Given the description of an element on the screen output the (x, y) to click on. 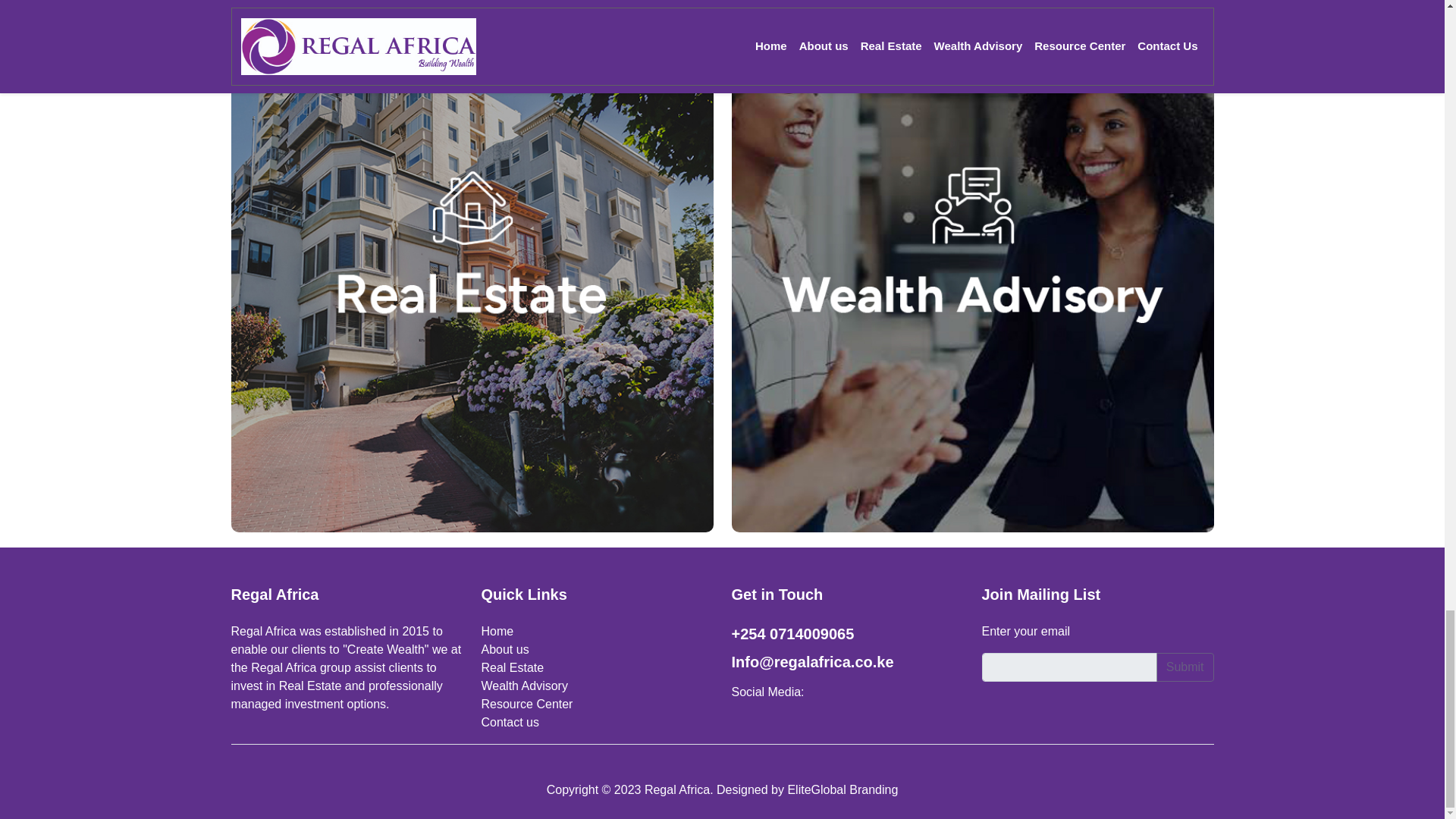
Wealth Advisory (523, 685)
About us (504, 649)
Contact us (509, 721)
Home (496, 631)
Resource Center (526, 703)
Submit (1185, 666)
Designed by EliteGlobal Branding (807, 789)
Tooltip on top (971, 256)
Real Estate (511, 667)
Tooltip on top (471, 256)
